Given the description of an element on the screen output the (x, y) to click on. 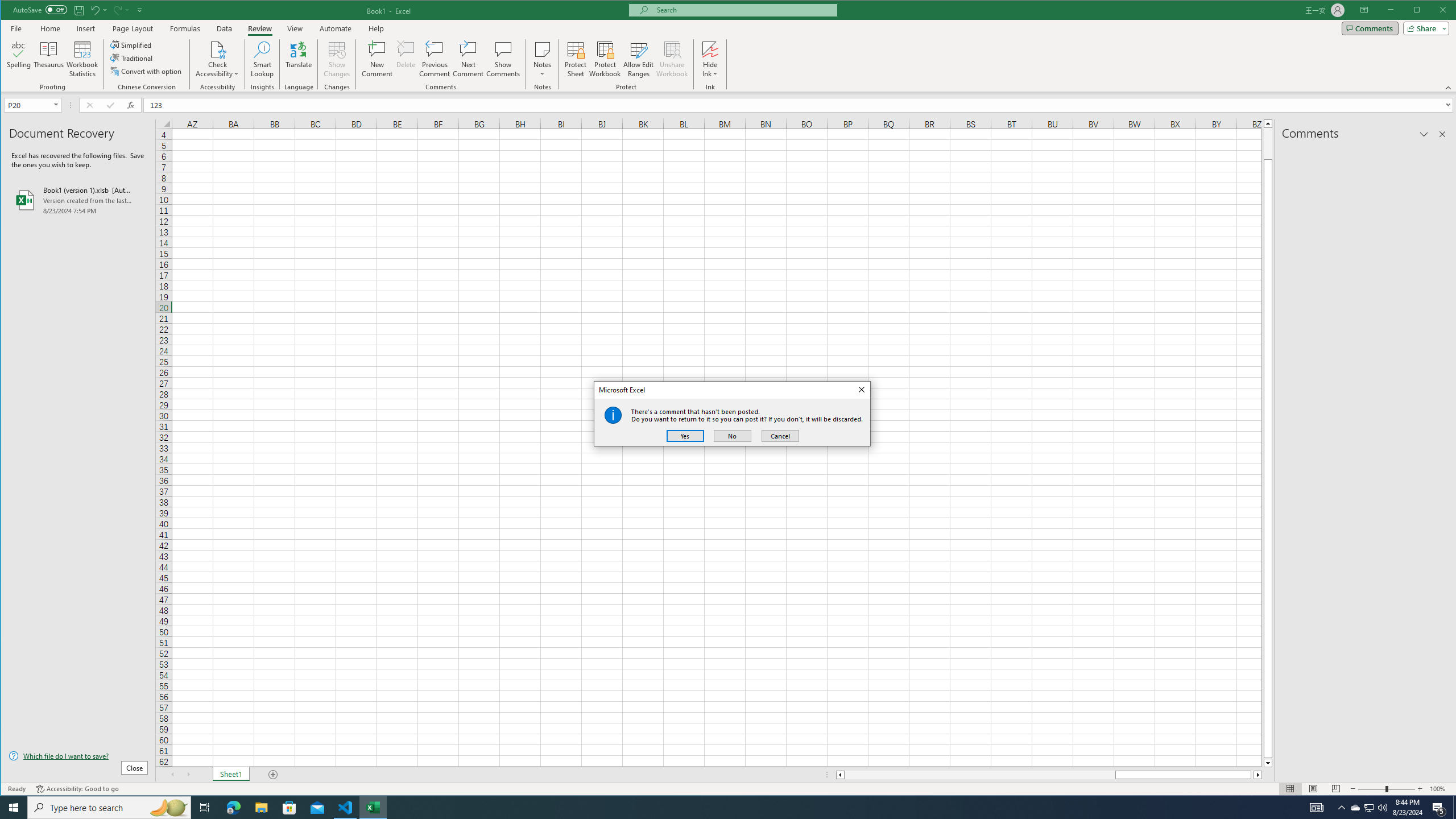
No (732, 435)
